Given the description of an element on the screen output the (x, y) to click on. 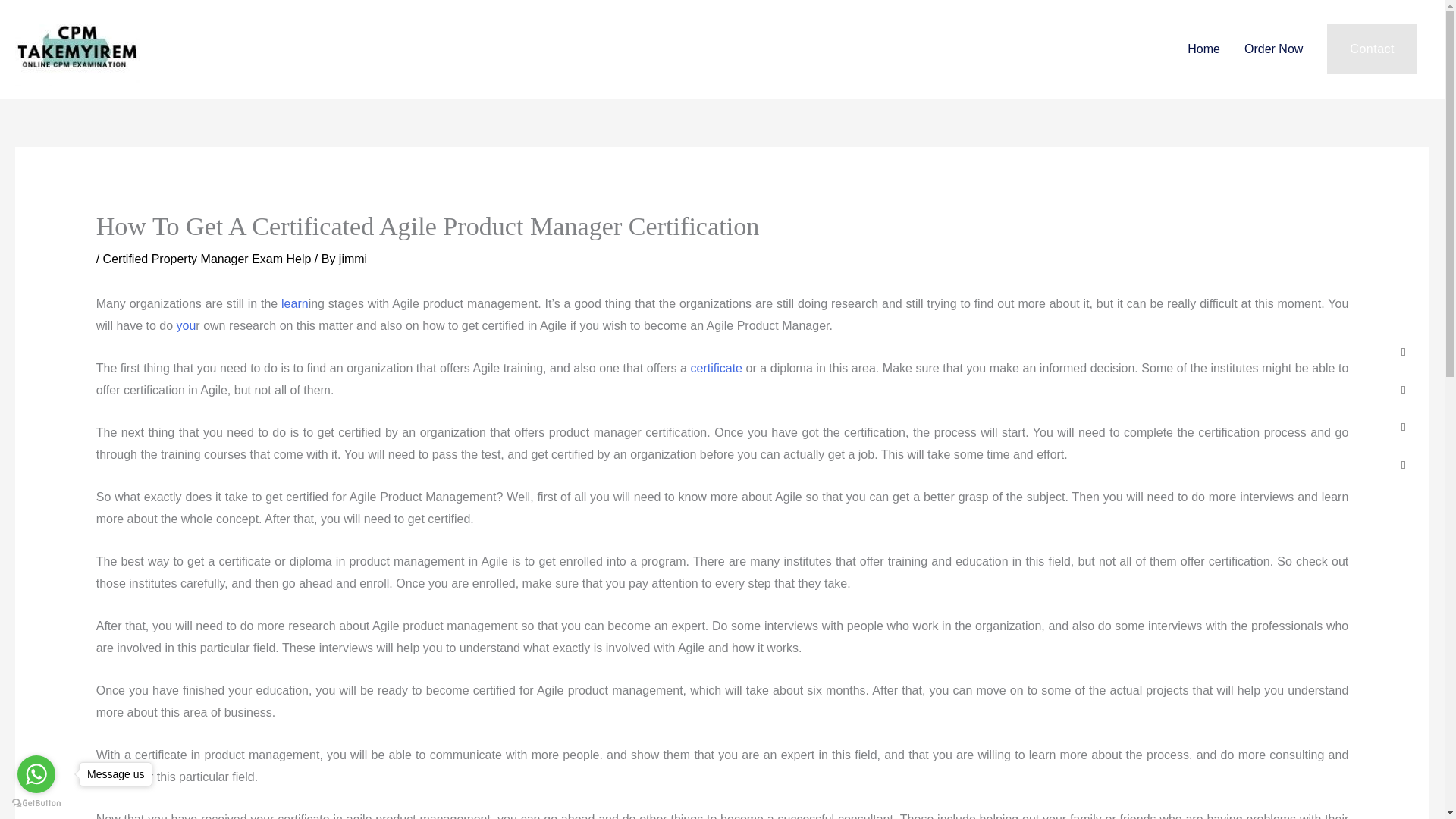
learn (294, 303)
Certified Property Manager Exam Help (207, 258)
you (186, 325)
certificate (716, 367)
Twitter (1403, 389)
Contact (1371, 49)
Message us (115, 774)
jimmi (352, 258)
Youtube (1403, 427)
Facebook-square (1403, 351)
View all posts by jimmi (352, 258)
Google (1403, 464)
